Given the description of an element on the screen output the (x, y) to click on. 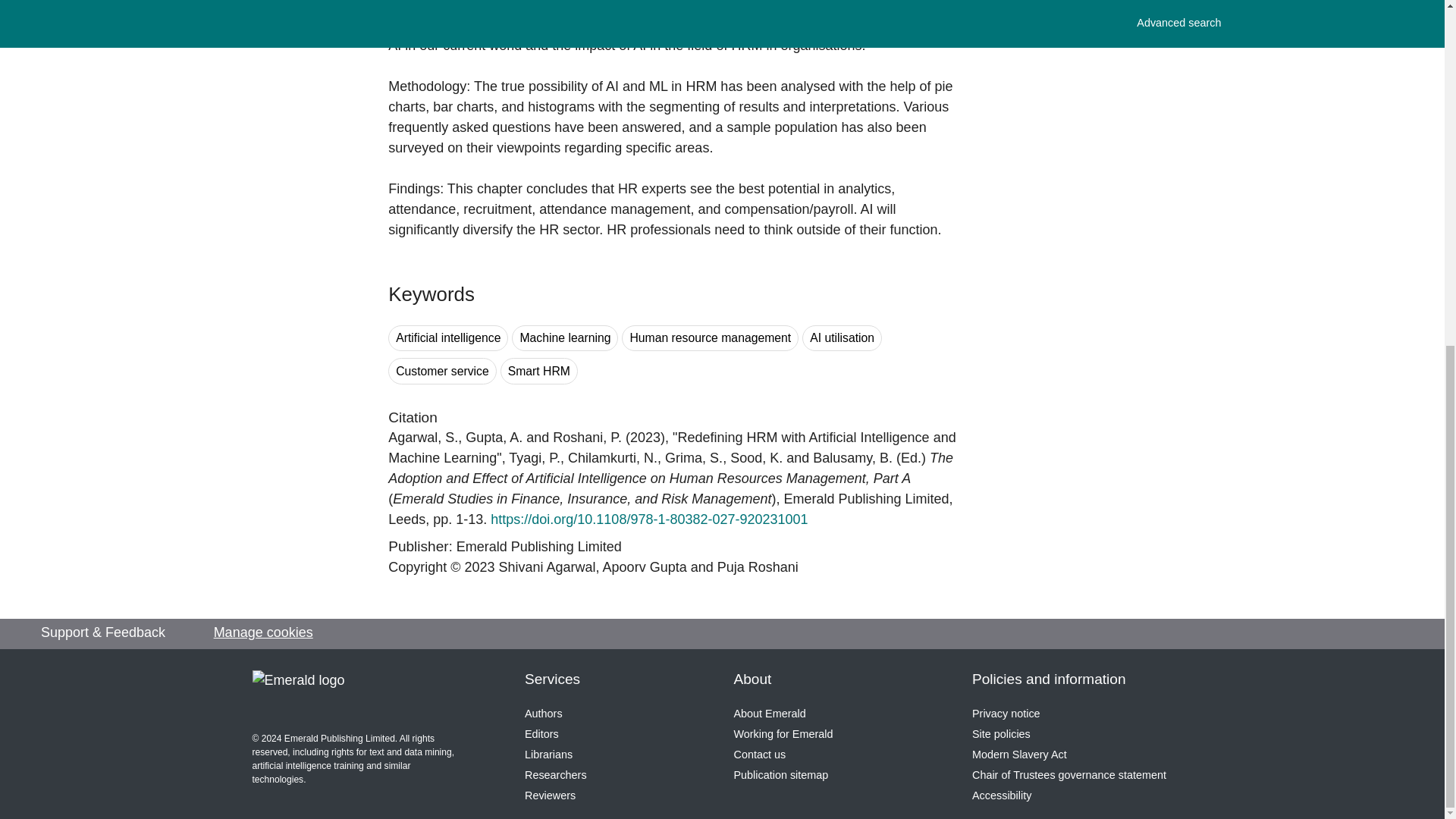
Search for keyword Human resource management (709, 338)
Simon Grima (693, 458)
Search for keyword AI utilisation (842, 338)
Machine learning (564, 338)
Grima, S. (693, 458)
Pallavi Tyagi (534, 458)
Puja Roshani (587, 437)
Smart HRM (539, 370)
Human resource management (709, 338)
Chilamkurti, N. (612, 458)
